Given the description of an element on the screen output the (x, y) to click on. 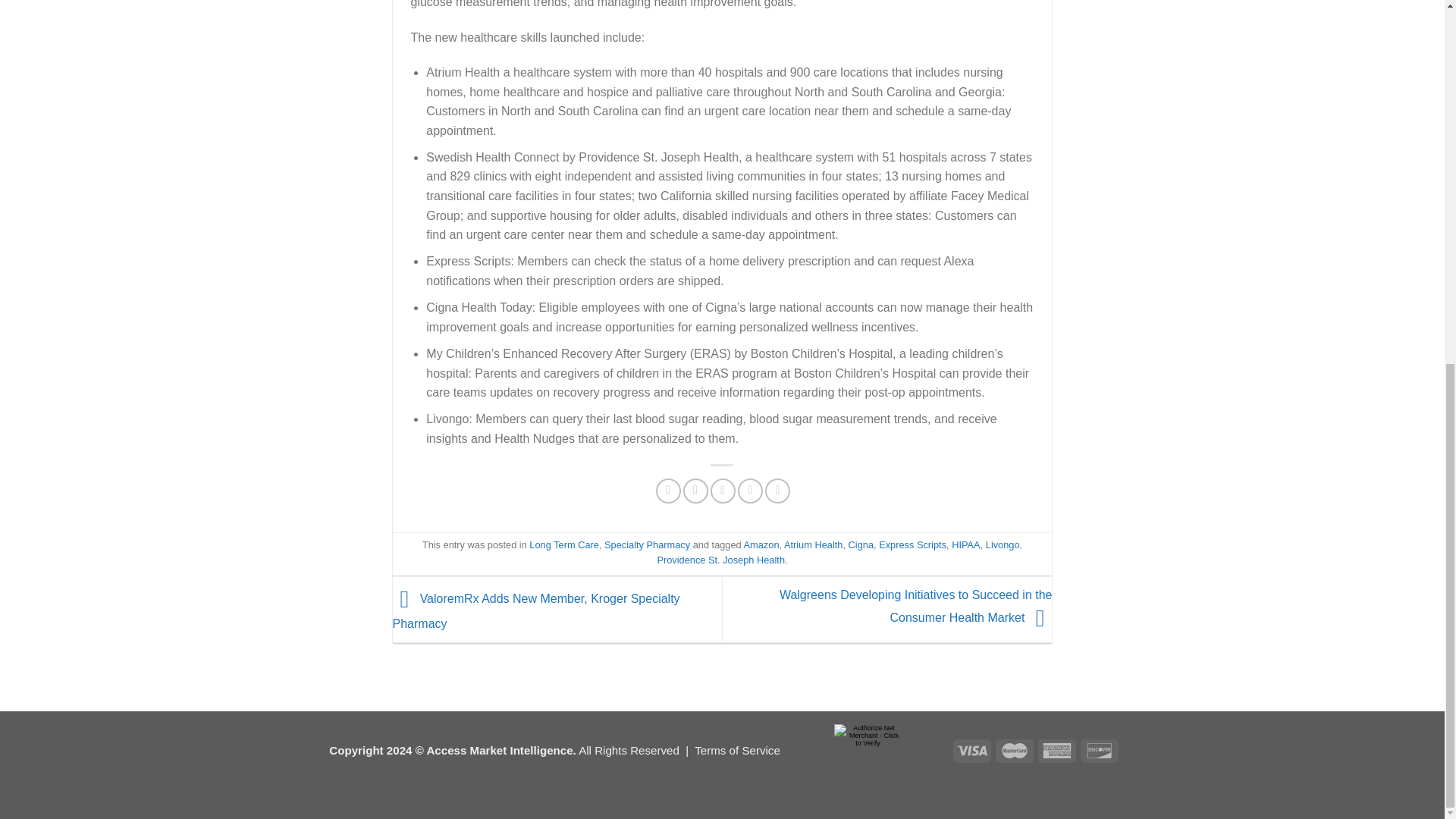
Email to a Friend (722, 490)
Share on Twitter (694, 490)
Share on Facebook (668, 490)
